Given the description of an element on the screen output the (x, y) to click on. 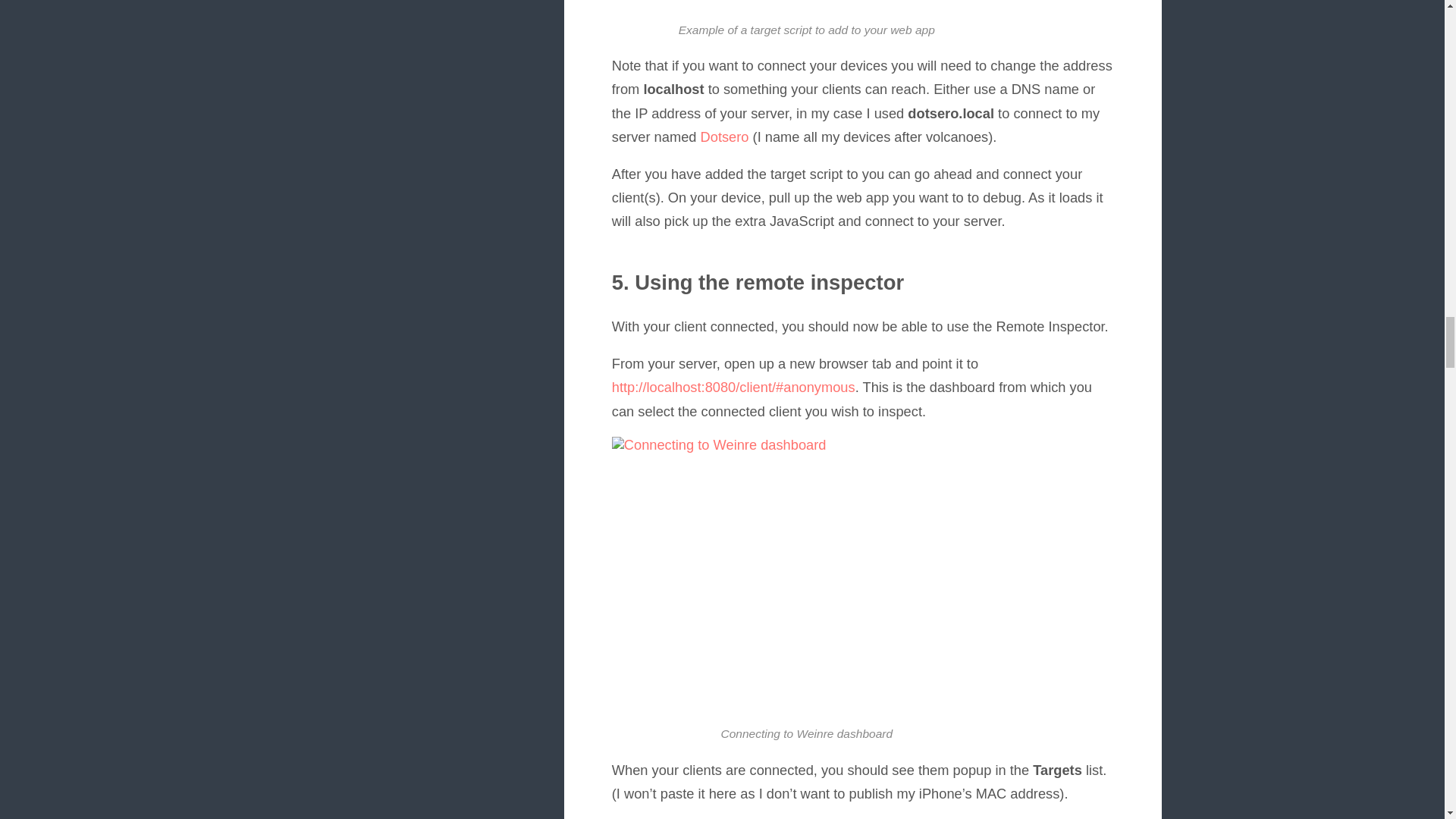
Dotsero volcano on Wikipedia.org (724, 136)
image (802, 571)
